Given the description of an element on the screen output the (x, y) to click on. 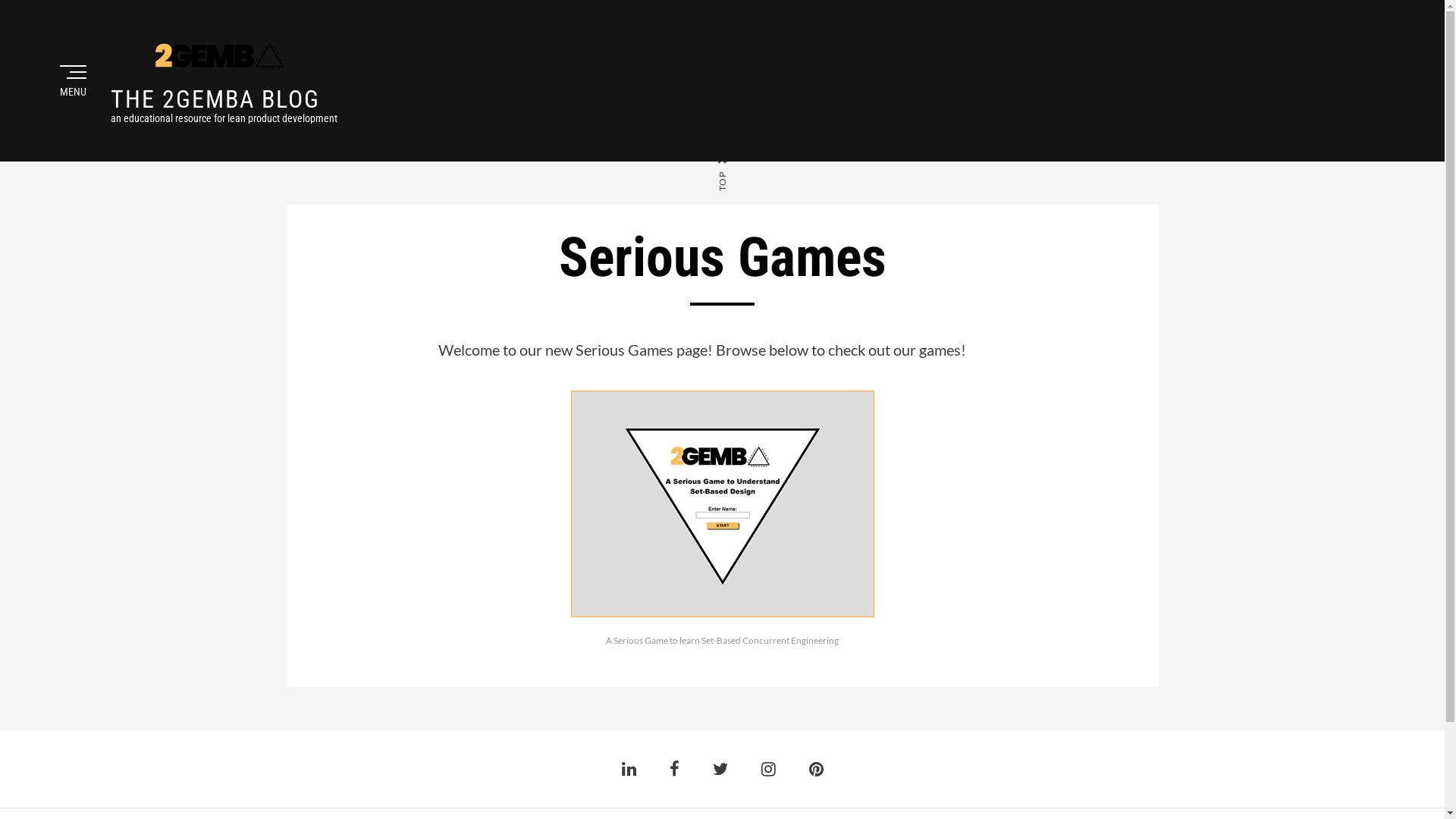
THE 2GEMBA BLOG Element type: text (215, 98)
TOP Element type: text (732, 161)
MENU Element type: text (71, 81)
